Given the description of an element on the screen output the (x, y) to click on. 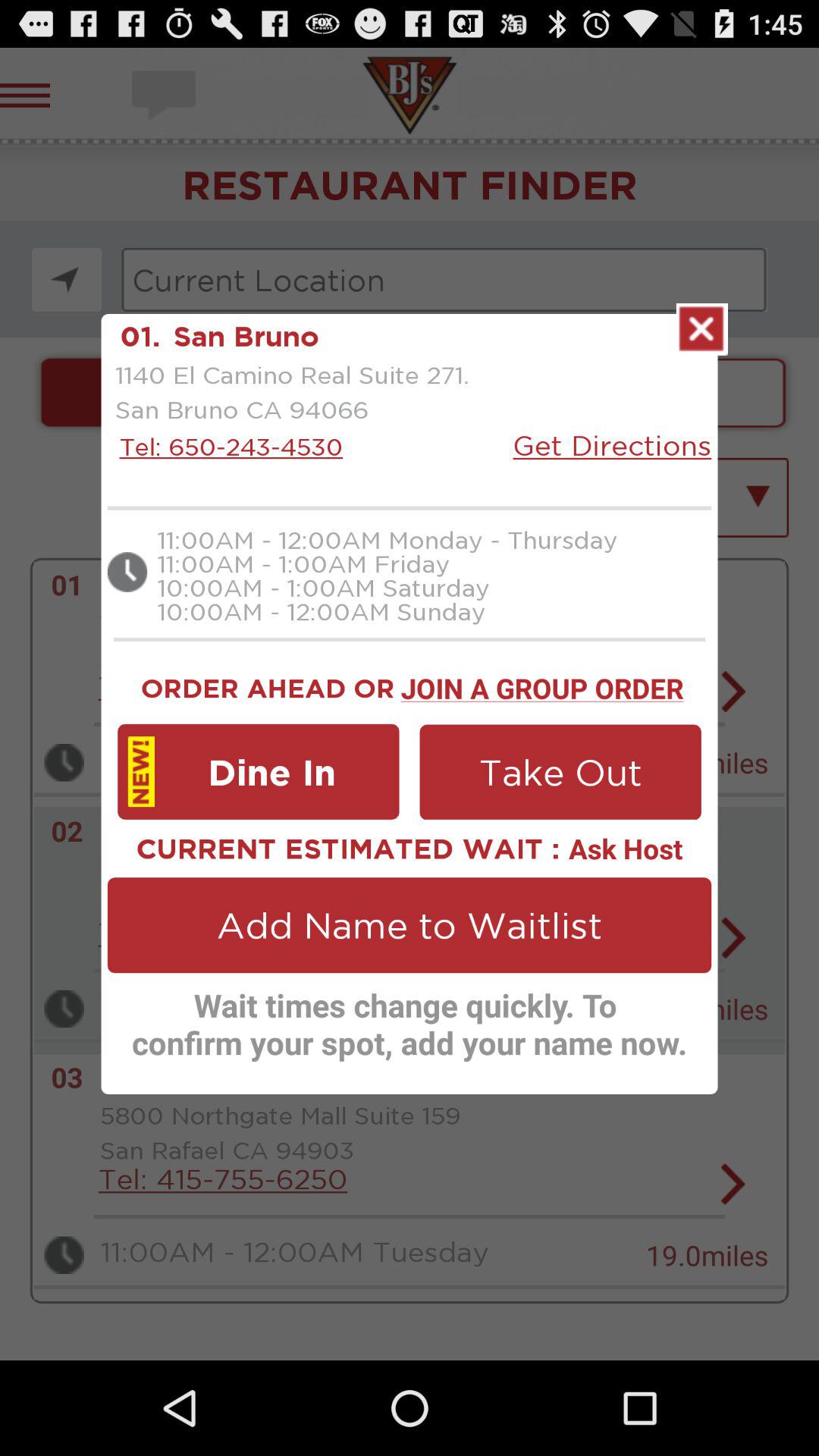
launch app below the join a group (560, 771)
